Given the description of an element on the screen output the (x, y) to click on. 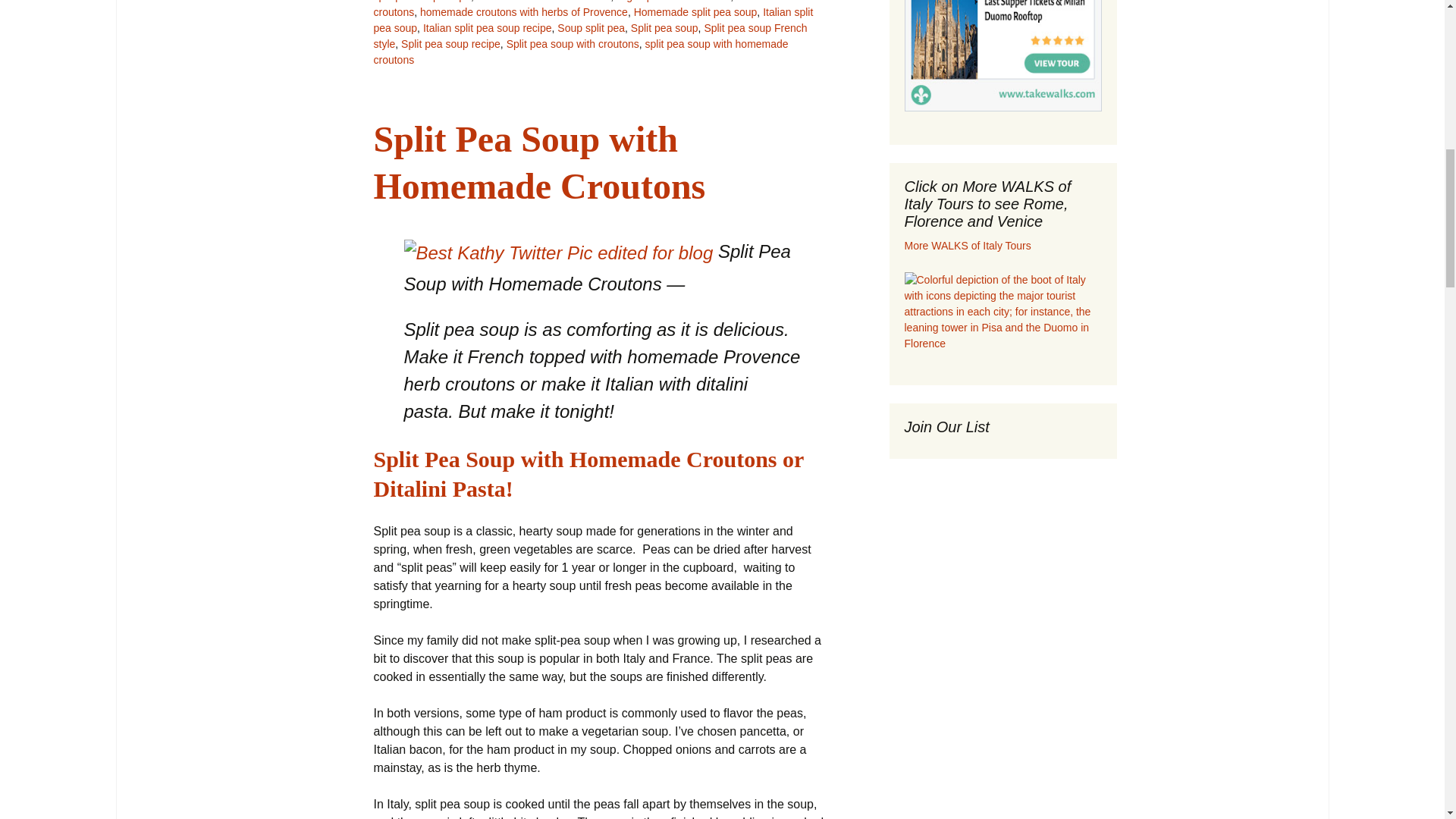
Split pea soup recipe (450, 43)
Soup split pea (590, 28)
Split pea soup (664, 28)
homemade croutons with herbs of Provence (523, 11)
High speed Italian trains (672, 1)
split pea soup with homemade croutons (579, 51)
Homemade split pea soup (695, 11)
Italian split pea soup (592, 19)
Split Pea Soup with Homemade Croutons (538, 162)
Herbs of Provence Croutons (544, 1)
Italian split pea soup recipe (487, 28)
Split pea soup with croutons (572, 43)
homemade croutons (580, 9)
Split pea soup French style (589, 35)
